Given the description of an element on the screen output the (x, y) to click on. 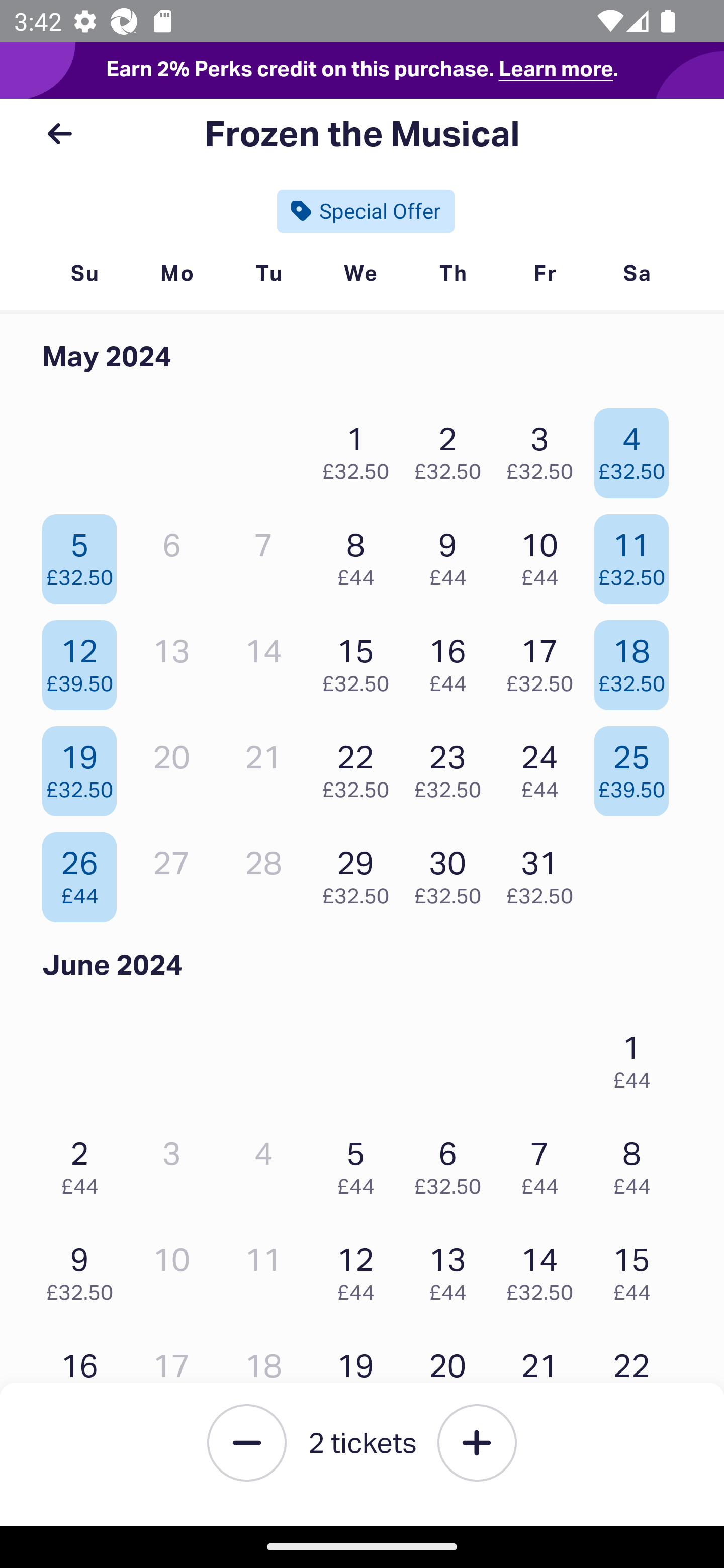
Earn 2% Perks credit on this purchase. Learn more. (362, 70)
back button (59, 133)
Special Offer (365, 210)
1 £32.50 (360, 448)
2 £32.50 (452, 448)
3 £32.50 (544, 448)
4 £32.50 (636, 448)
5 £32.50 (84, 553)
8 £44 (360, 553)
9 £44 (452, 553)
10 £44 (544, 553)
11 £32.50 (636, 553)
12 £39.50 (84, 660)
15 £32.50 (360, 660)
16 £44 (452, 660)
17 £32.50 (544, 660)
18 £32.50 (636, 660)
19 £32.50 (84, 766)
22 £32.50 (360, 766)
23 £32.50 (452, 766)
24 £44 (544, 766)
25 £39.50 (636, 766)
26 £44 (84, 872)
29 £32.50 (360, 872)
30 £32.50 (452, 872)
31 £32.50 (544, 872)
1 £44 (636, 1057)
2 £44 (84, 1162)
5 £44 (360, 1162)
6 £32.50 (452, 1162)
7 £44 (544, 1162)
8 £44 (636, 1162)
9 £32.50 (84, 1268)
12 £44 (360, 1268)
13 £44 (452, 1268)
14 £32.50 (544, 1268)
15 £44 (636, 1268)
16 £32.50 (84, 1375)
19 £44 (360, 1375)
20 £32.50 (452, 1375)
21 £32.50 (544, 1375)
22 £32.50 (636, 1375)
